Given the description of an element on the screen output the (x, y) to click on. 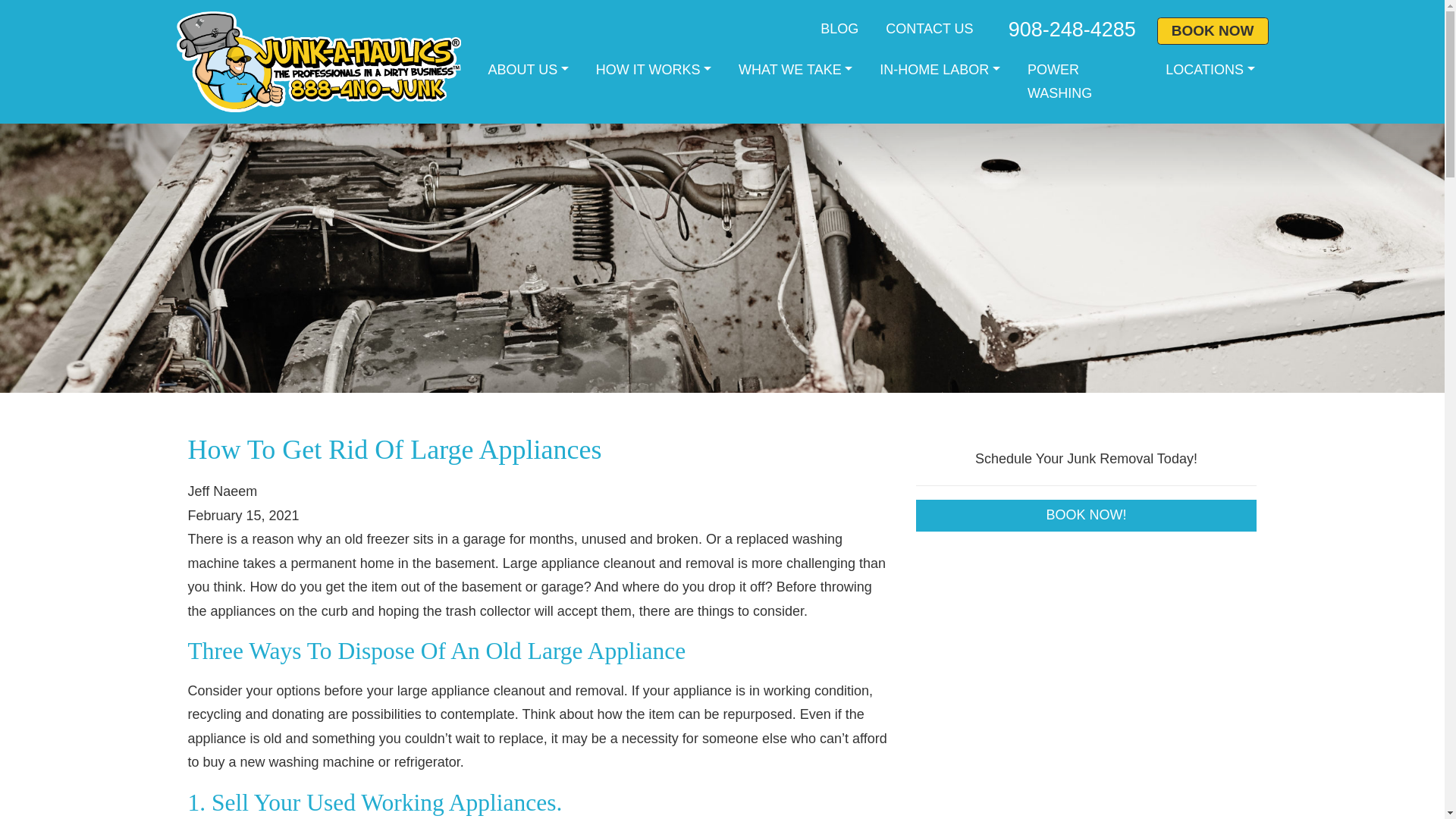
WHAT WE TAKE (795, 70)
HOW IT WORKS (653, 70)
ABOUT US (528, 70)
How It Works (653, 70)
About Us (528, 70)
